Given the description of an element on the screen output the (x, y) to click on. 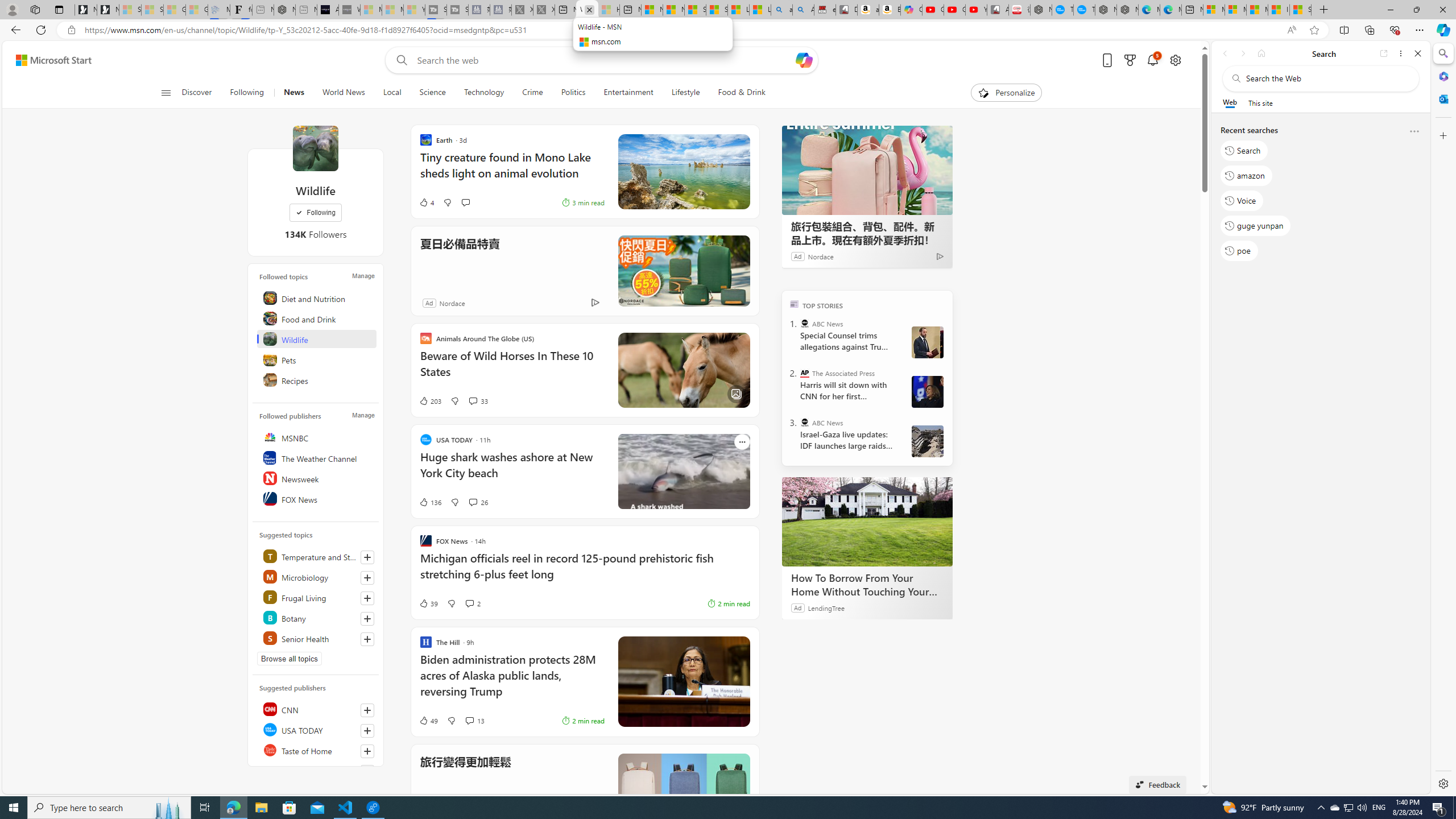
View comments 26 Comment (477, 502)
Science (432, 92)
Science (432, 92)
Microsoft 365 (1442, 76)
Class: highlight (317, 637)
View comments 33 Comment (472, 400)
Follow this topic (367, 639)
USA TODAY (317, 729)
